Given the description of an element on the screen output the (x, y) to click on. 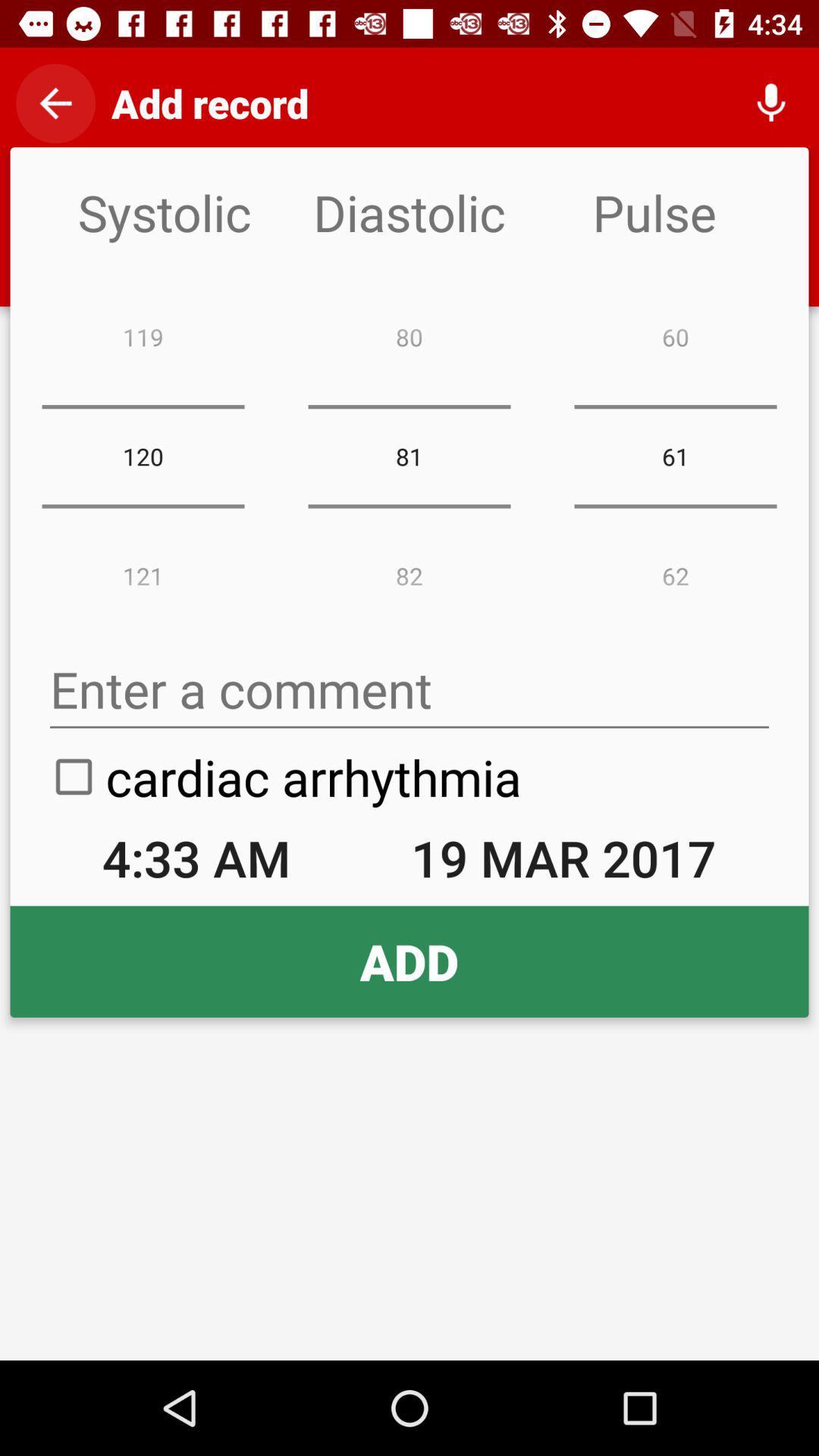
icon right to the header text (771, 103)
